Given the description of an element on the screen output the (x, y) to click on. 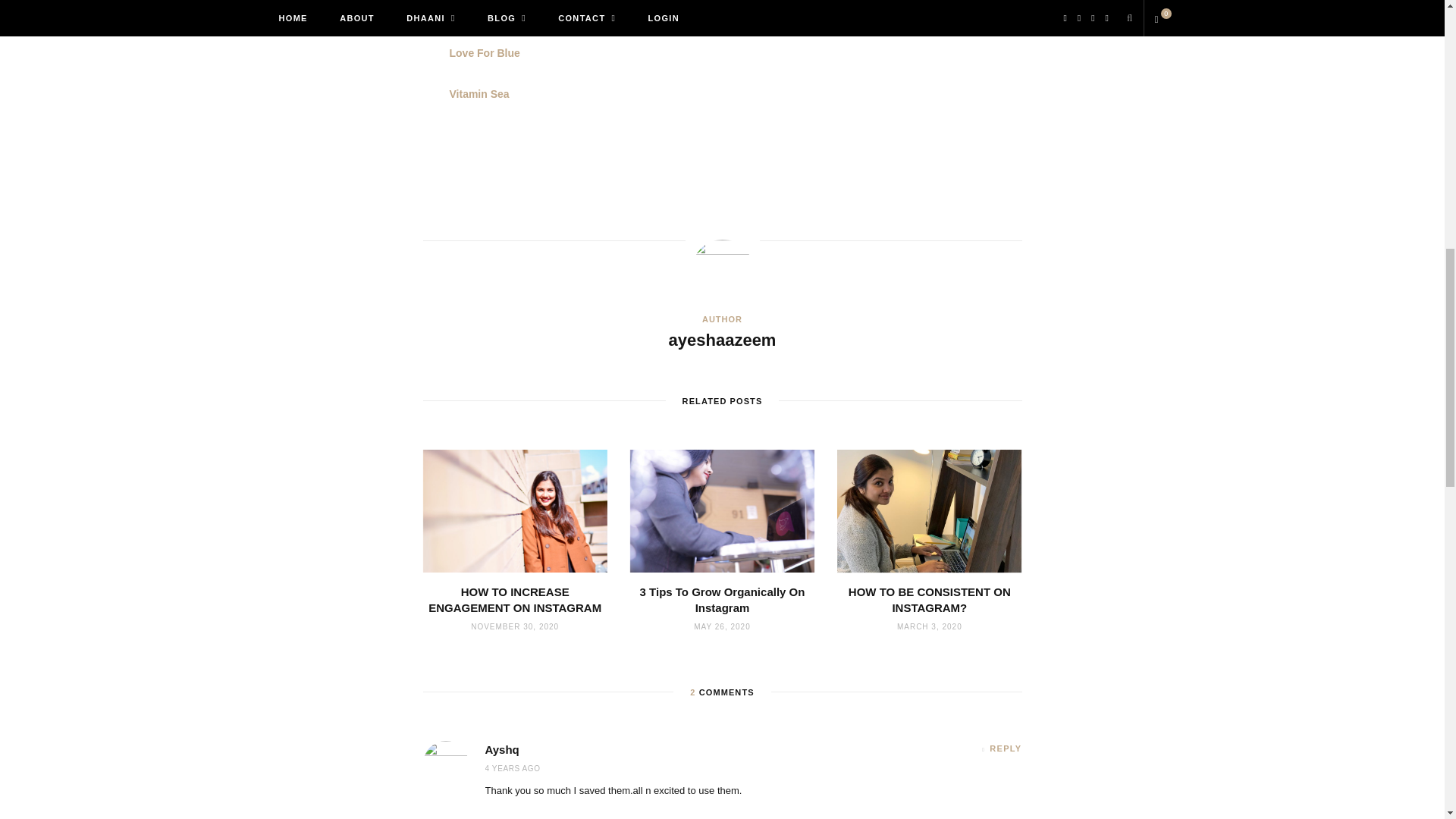
HOW TO INCREASE ENGAGEMENT ON INSTAGRAM (515, 510)
Posts by ayeshaazeem (722, 340)
3 Tips To Grow Organically On Instagram (721, 510)
